Given the description of an element on the screen output the (x, y) to click on. 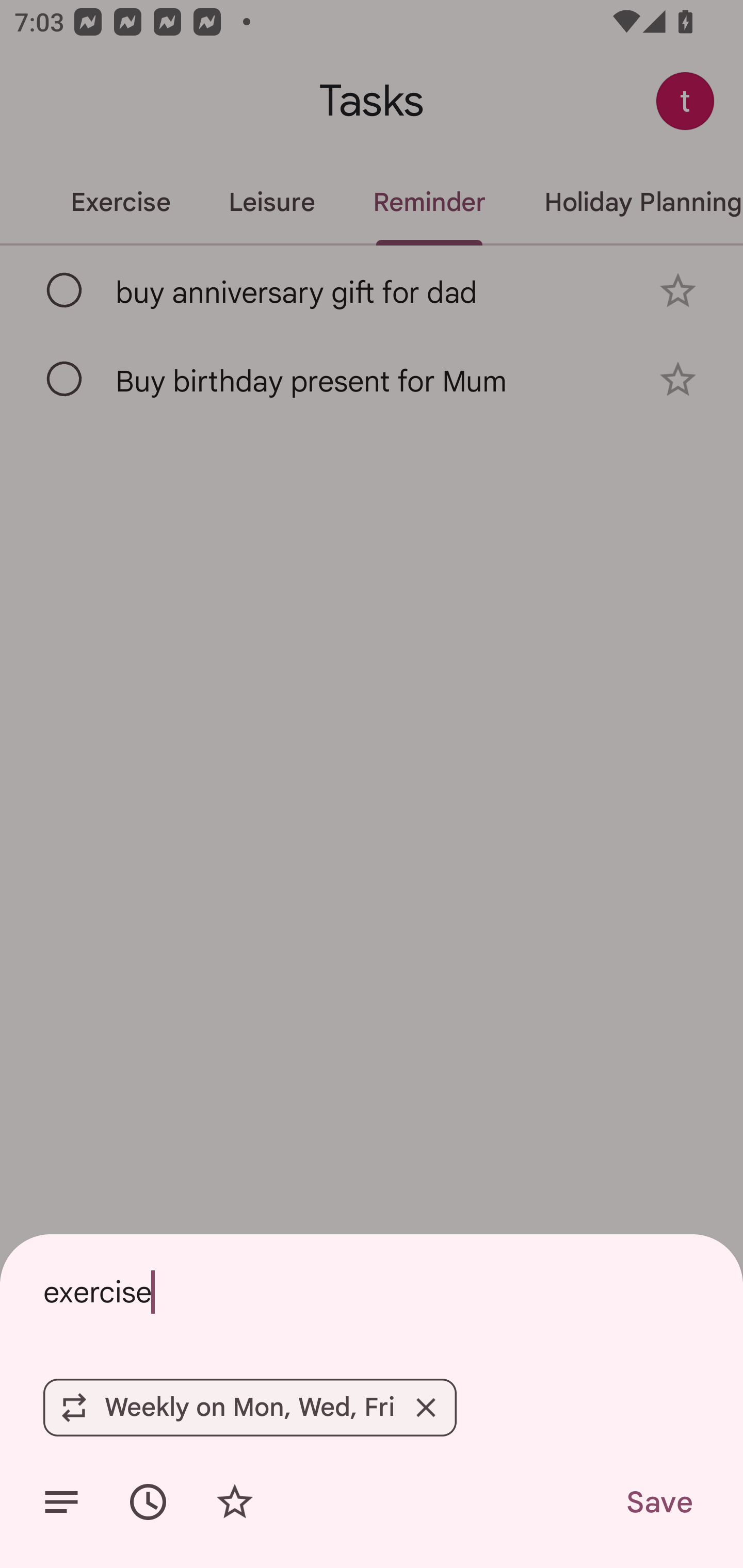
exercise (371, 1291)
Save (659, 1501)
Add details (60, 1501)
Set date/time (147, 1501)
Add star (234, 1501)
